Given the description of an element on the screen output the (x, y) to click on. 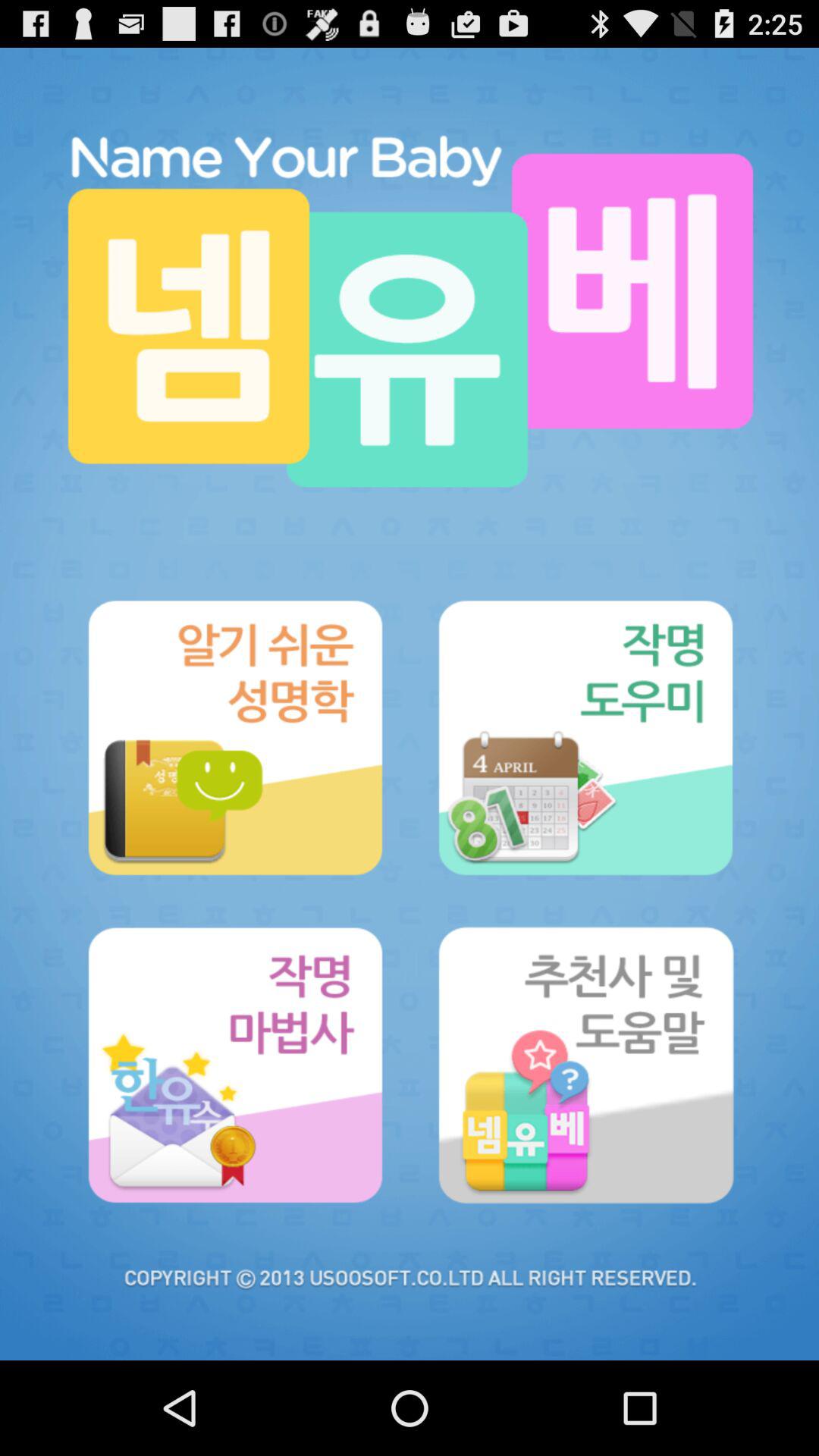
select option (584, 737)
